Given the description of an element on the screen output the (x, y) to click on. 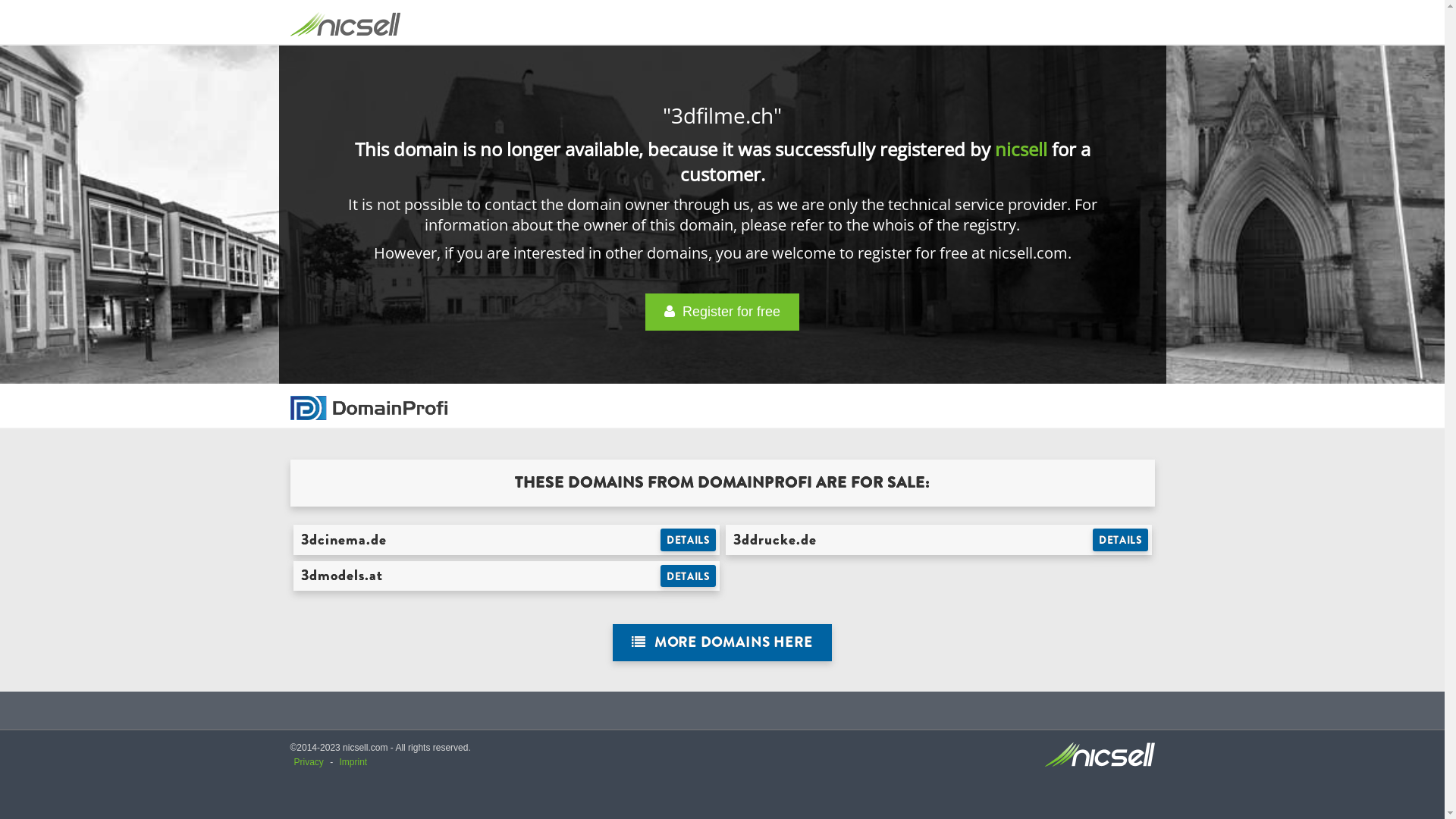
  Register for free Element type: text (722, 311)
Privacy Element type: text (308, 761)
Imprint Element type: text (353, 761)
DETAILS Element type: text (687, 539)
DETAILS Element type: text (687, 575)
  MORE DOMAINS HERE Element type: text (721, 642)
nicsell Element type: text (1020, 148)
DETAILS Element type: text (1120, 539)
